Given the description of an element on the screen output the (x, y) to click on. 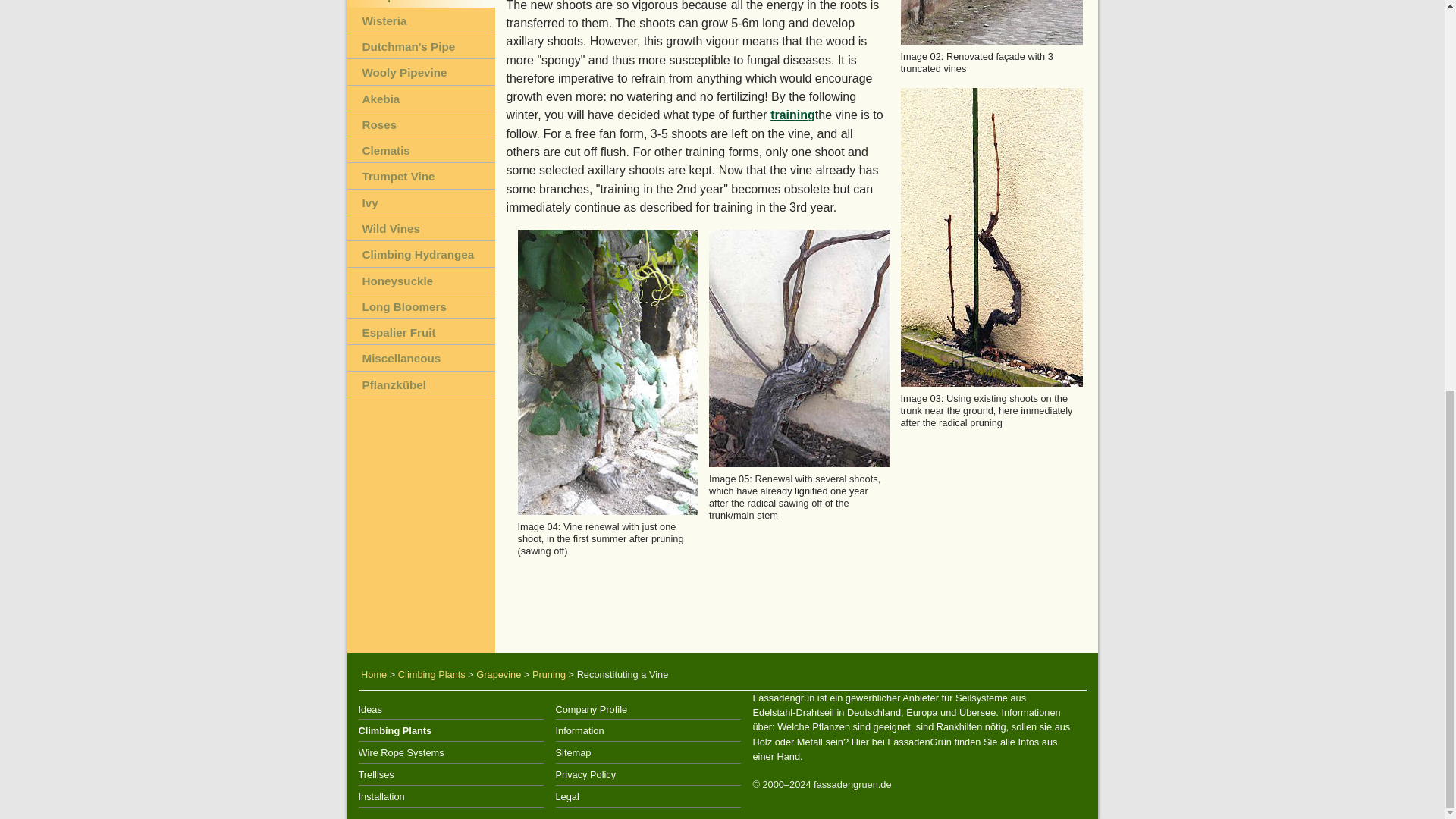
Mounting Wire Rope Systems and Climbing Plants (450, 796)
Ideas for Greening and Trellis Systems (450, 709)
Wooden, Bamboo, and Metal Trellises - Overview (450, 773)
Leaflet (646, 730)
Training methods for grapevine (792, 114)
Wire rope systems made of stainless steel (450, 752)
